Given the description of an element on the screen output the (x, y) to click on. 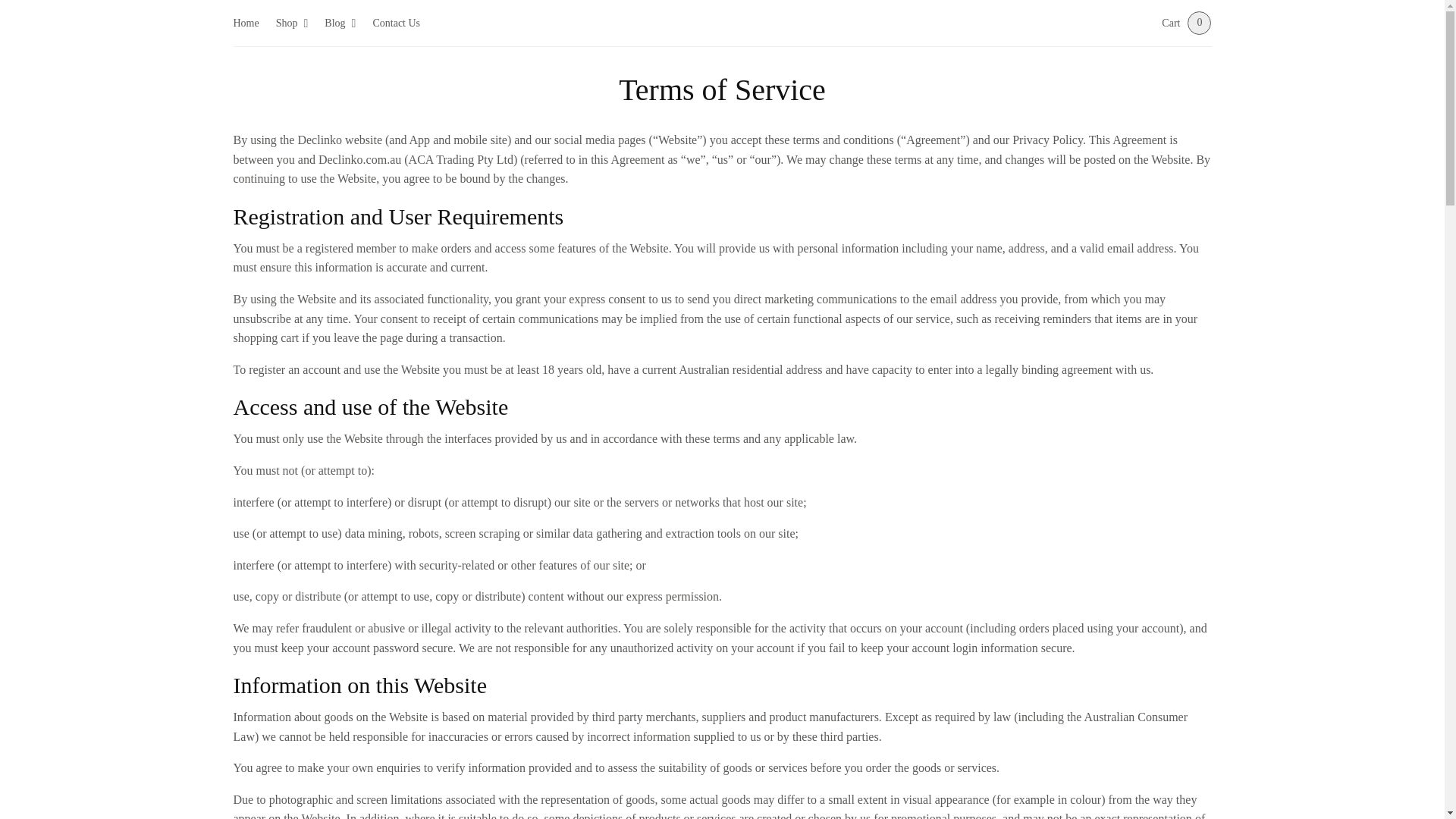
Blog (339, 22)
Home (245, 22)
Declinko (721, 22)
Shop (292, 22)
